Given the description of an element on the screen output the (x, y) to click on. 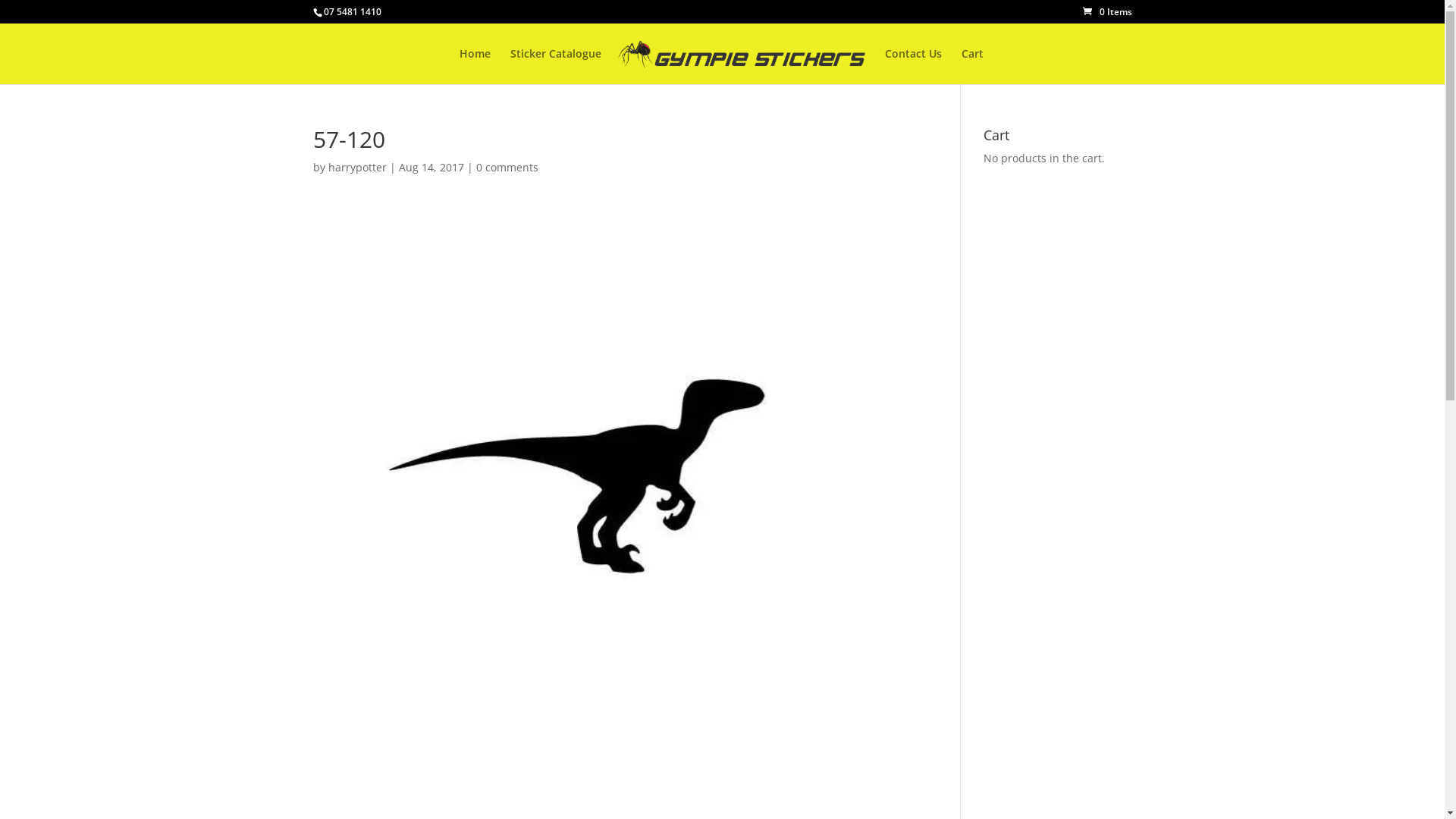
0 comments Element type: text (507, 167)
0 Items Element type: text (1107, 11)
Home Element type: text (474, 66)
harrypotter Element type: text (356, 167)
Cart Element type: text (972, 66)
Contact Us Element type: text (912, 66)
Sticker Catalogue Element type: text (555, 66)
